Given the description of an element on the screen output the (x, y) to click on. 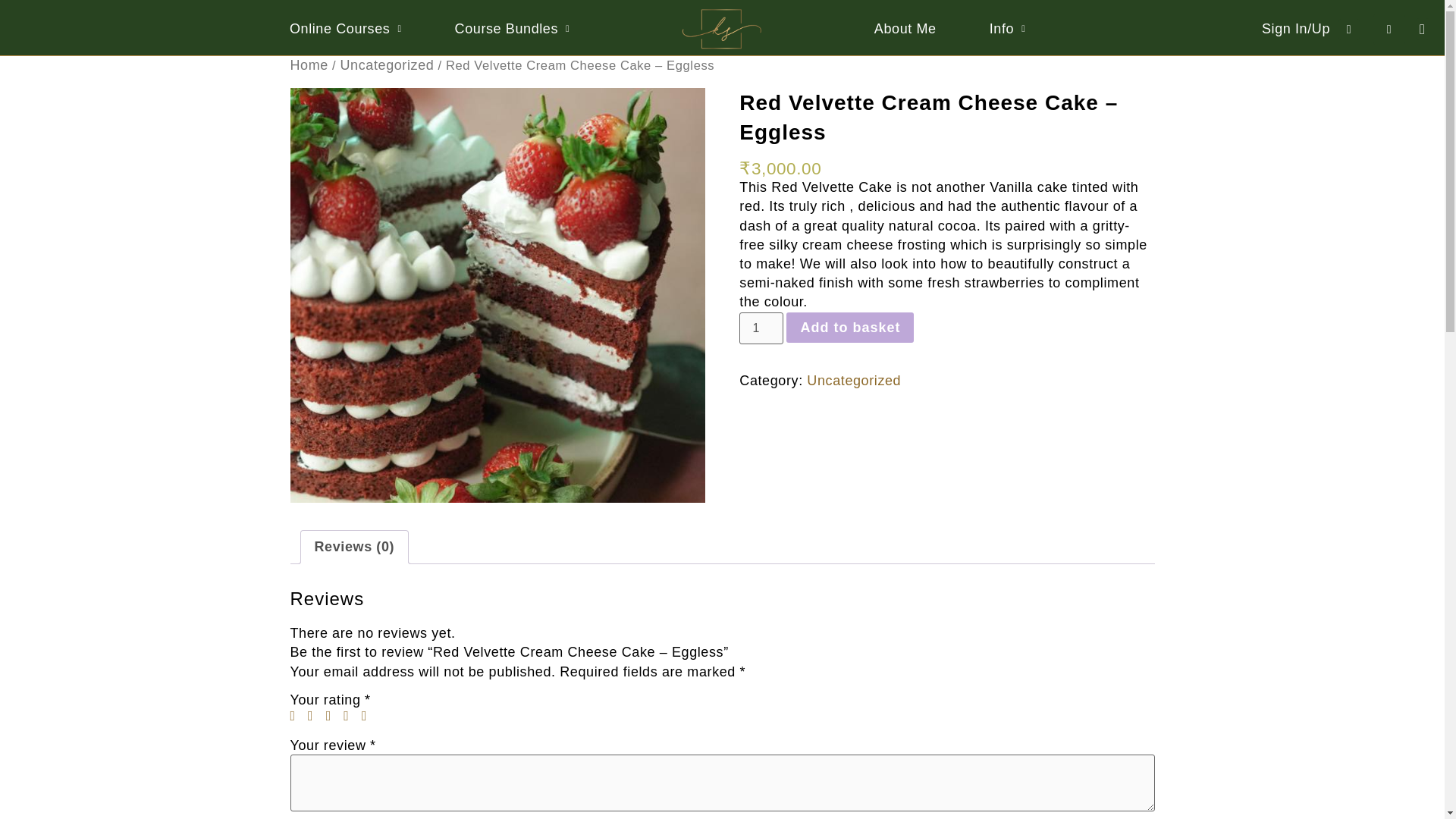
Online Courses (345, 28)
1 (761, 327)
